Given the description of an element on the screen output the (x, y) to click on. 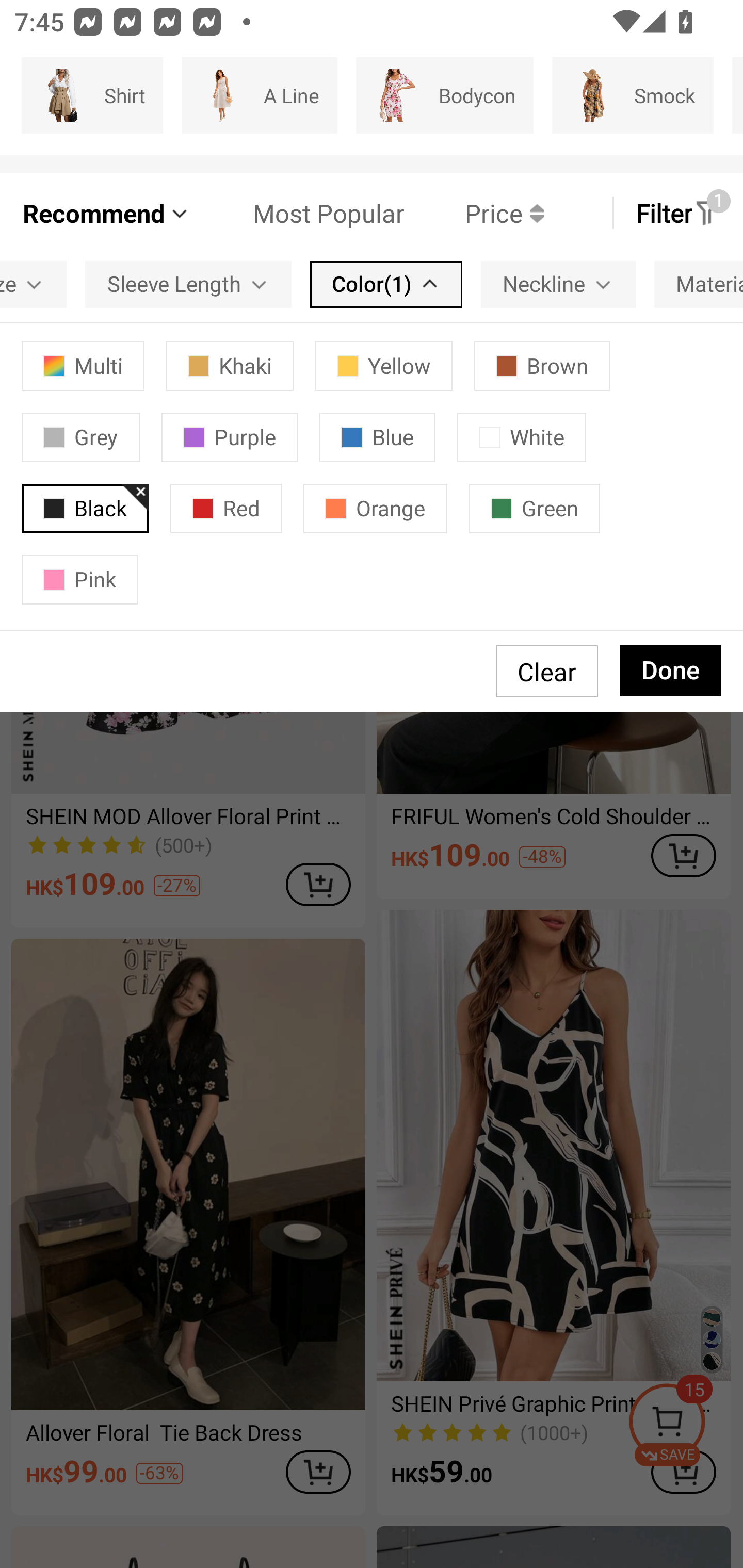
Shirt (91, 95)
A Line (259, 95)
Bodycon (444, 95)
Smock (632, 95)
Recommend (106, 213)
Most Popular (297, 213)
Price (474, 213)
Filter 1 (677, 213)
Sleeve Length (188, 283)
Color(1) (385, 283)
Neckline (558, 283)
Material (698, 283)
